Given the description of an element on the screen output the (x, y) to click on. 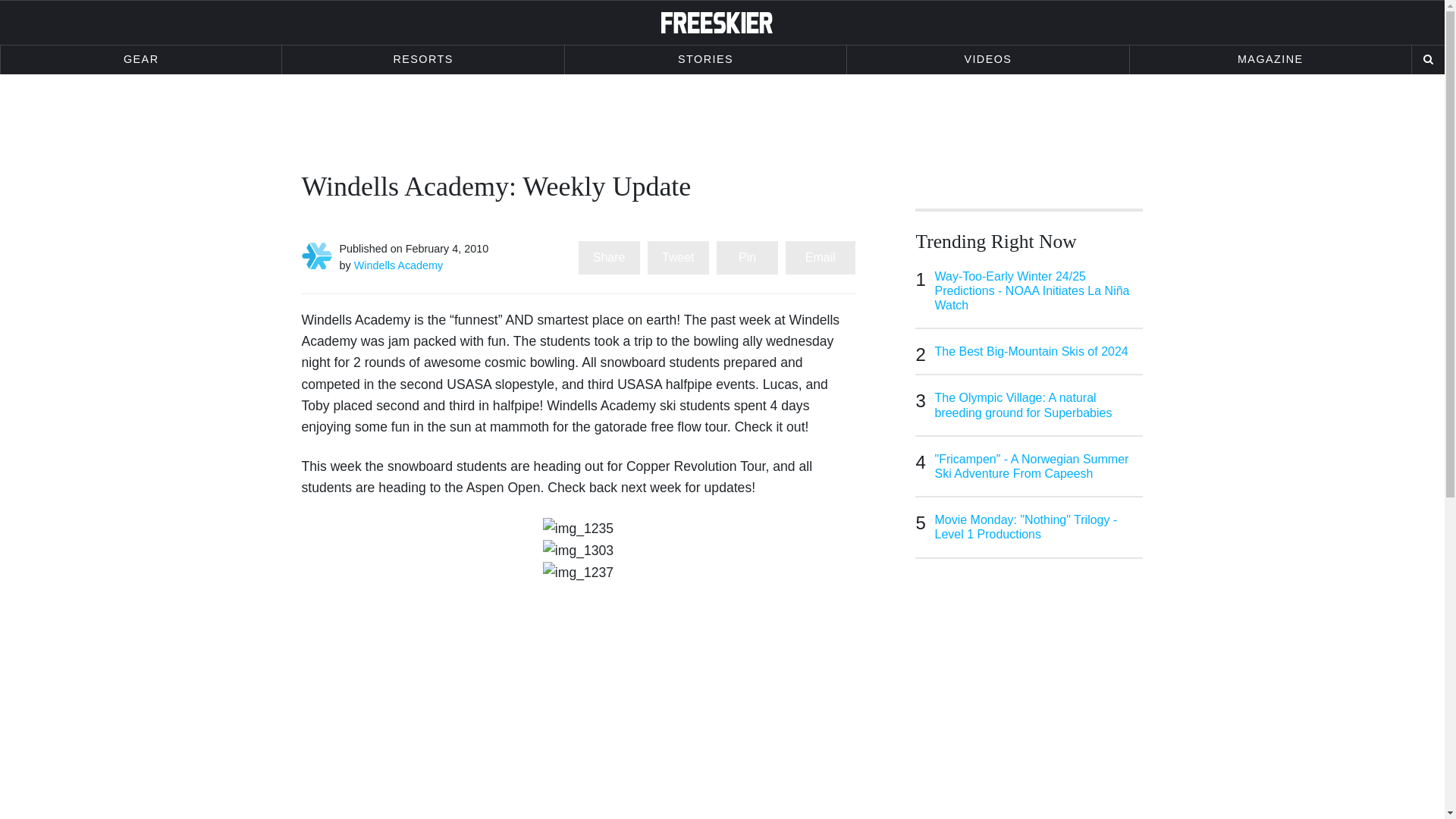
GEAR (141, 59)
RESORTS (422, 59)
GEAR (141, 59)
STORIES (704, 59)
MAGAZINE (1269, 59)
Windells Academy (398, 265)
STORIES (704, 59)
RESORTS (422, 59)
The Best Powder Skis of 2024 (1038, 708)
